Given the description of an element on the screen output the (x, y) to click on. 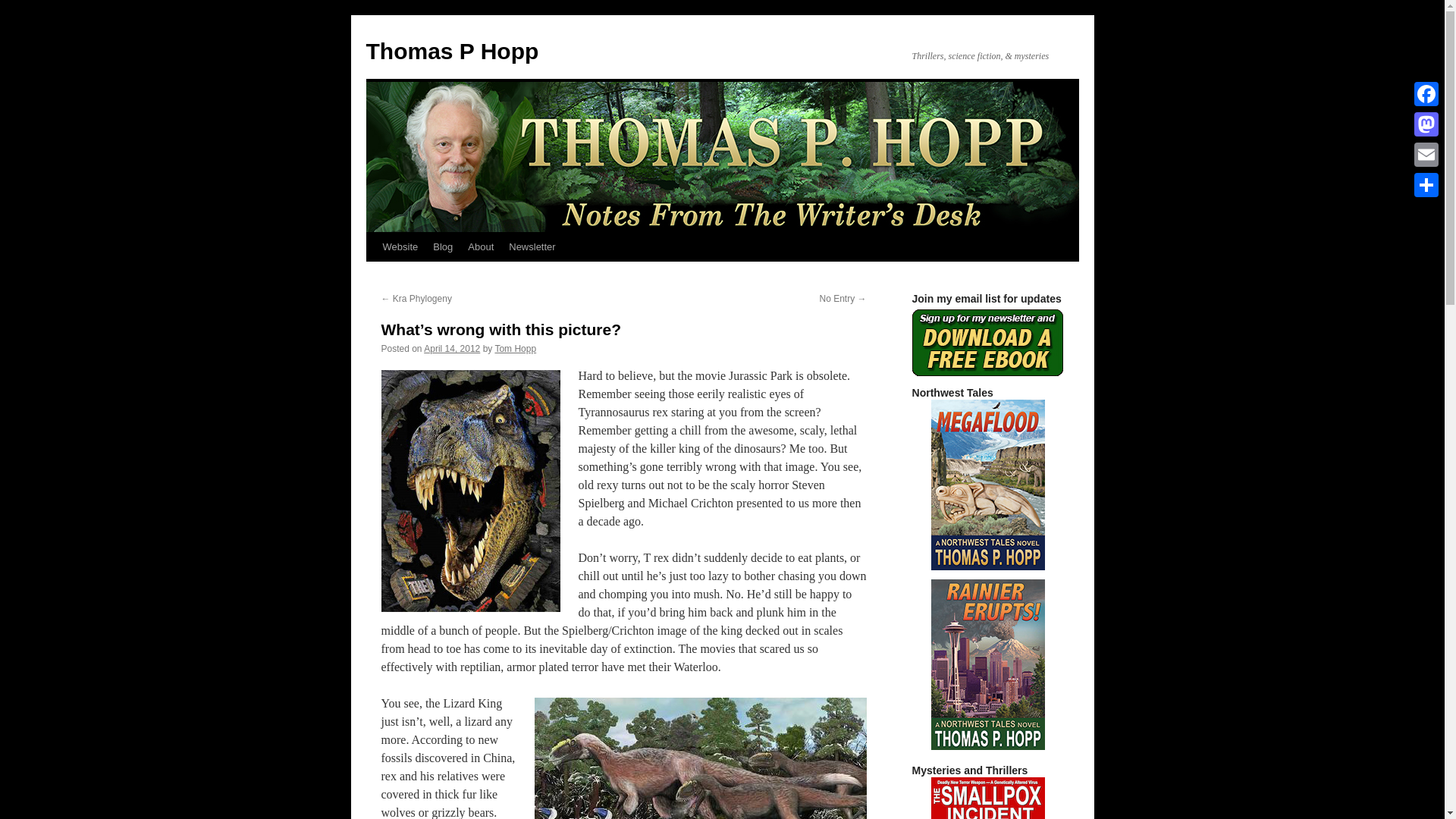
View all posts by Tom Hopp (515, 348)
1:42 pm (451, 348)
WoolyRex (700, 758)
About (480, 246)
Newsletter (531, 246)
April 14, 2012 (451, 348)
Thomas P Hopp (451, 50)
Website (399, 246)
Blog (442, 246)
Signup (986, 342)
SIThumb (988, 798)
Tom Hopp (515, 348)
